Given the description of an element on the screen output the (x, y) to click on. 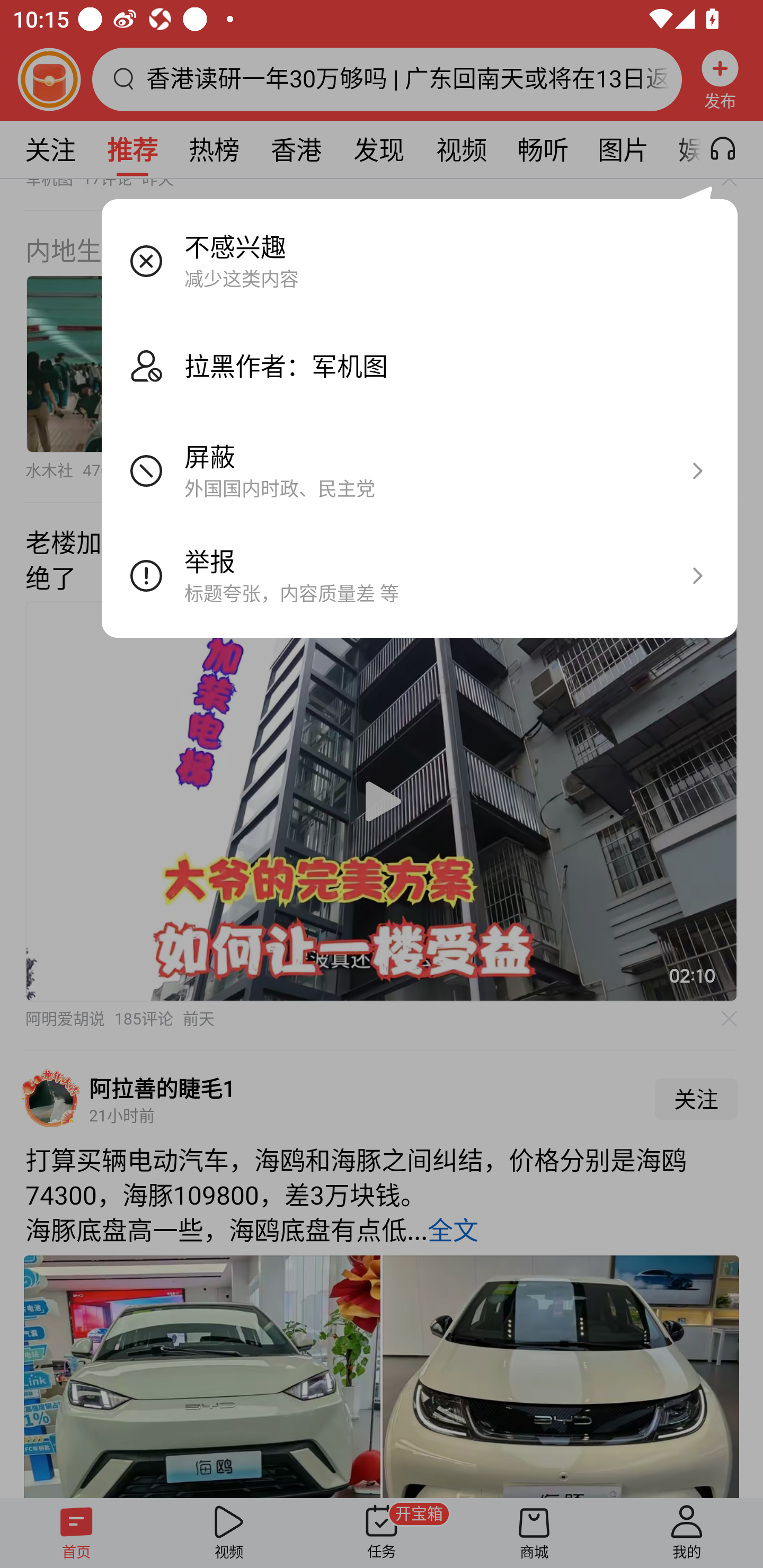
不感兴趣 减少这类内容 (419, 260)
拉黑作者：军机图 (419, 365)
屏蔽 外国国内时政、民主党 (419, 470)
举报 标题夸张，内容质量差 等 (419, 575)
